Given the description of an element on the screen output the (x, y) to click on. 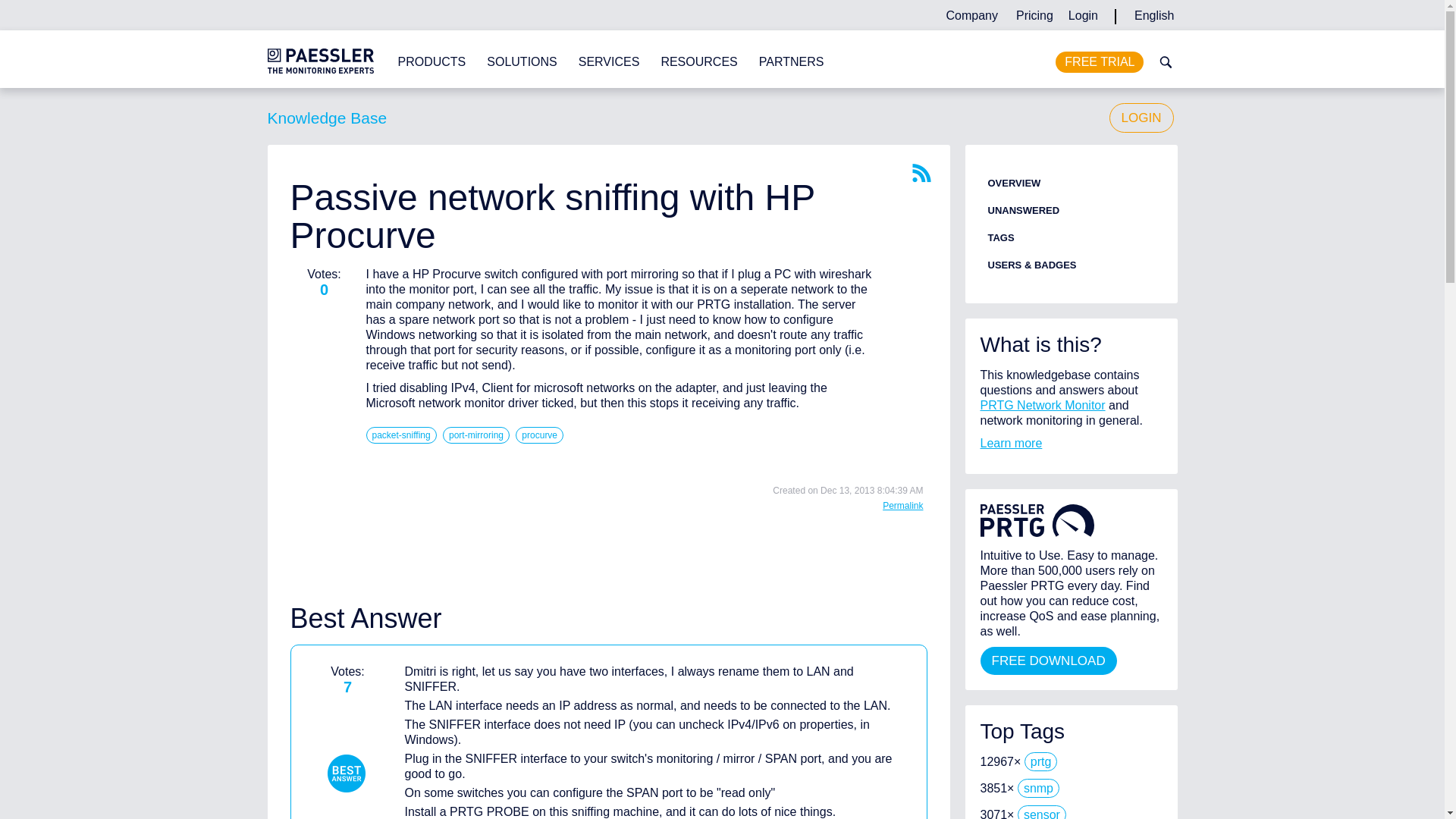
Download PRTG Network Monitor trial edition (1098, 61)
Pricing (1035, 15)
PRODUCTS (431, 62)
Login (1082, 15)
Permalink to this reply (902, 505)
SOLUTIONS (521, 62)
Company (971, 15)
English (1153, 15)
The feed for this page (921, 172)
